Given the description of an element on the screen output the (x, y) to click on. 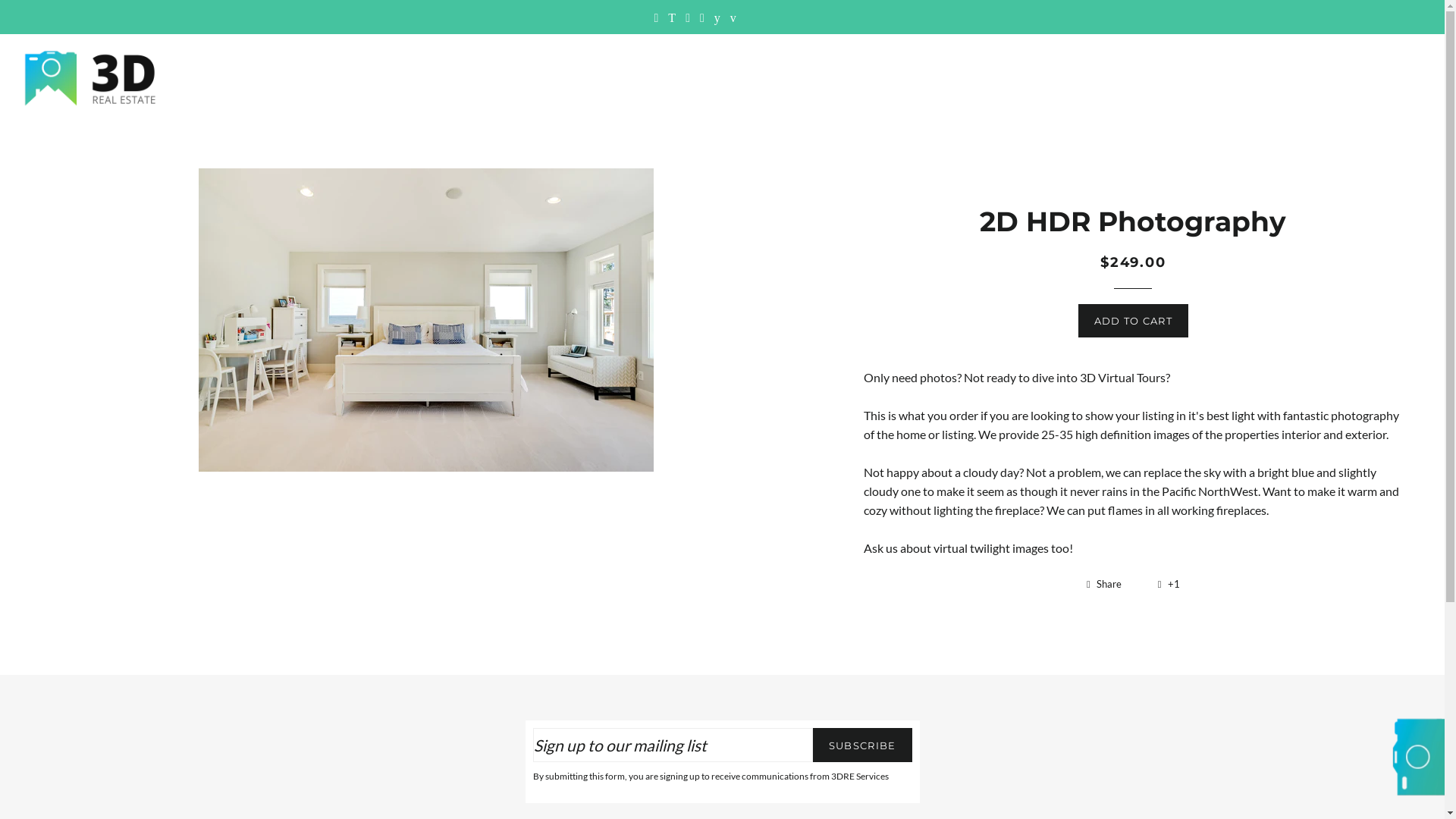
3DRE Services on Facebook Element type: hover (655, 16)
3DRE Services on Google Plus Element type: hover (701, 16)
Share
Share on Facebook Element type: text (1113, 583)
3DRE Services on Vimeo Element type: hover (733, 16)
3DRE Services on Twitter Element type: hover (671, 16)
SUBSCRIBE Element type: text (862, 745)
+1
+1 on Google Plus Element type: text (1168, 583)
3DRE Services on Instagram Element type: hover (687, 16)
3DRE Services on YouTube Element type: hover (717, 16)
ADD TO CART Element type: text (1133, 320)
